Given the description of an element on the screen output the (x, y) to click on. 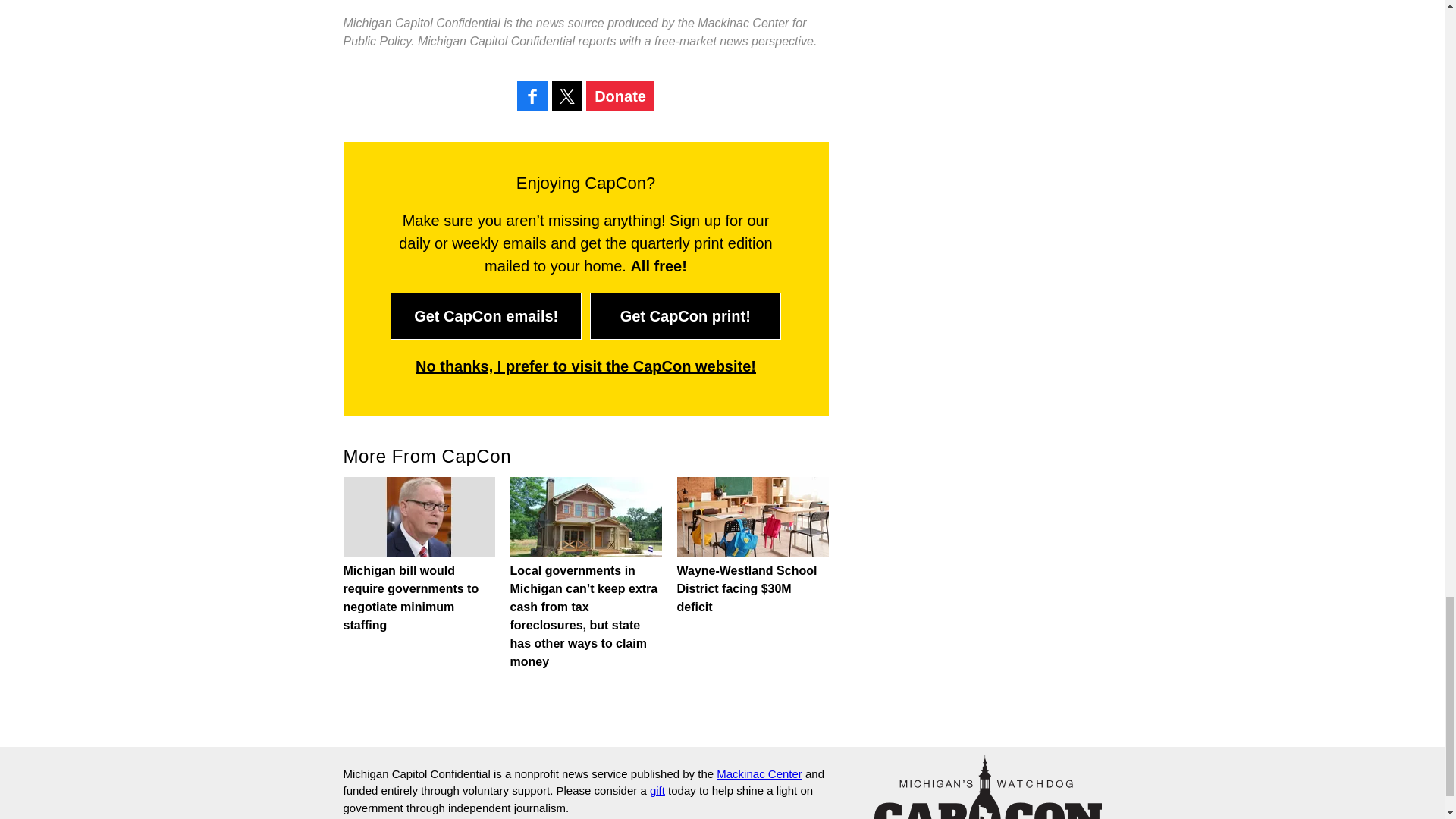
No thanks, I prefer to visit the CapCon website! (584, 365)
Get CapCon emails! (485, 315)
gift (657, 789)
Mackinac Center (759, 773)
Donate (619, 96)
Get CapCon print! (684, 315)
